Given the description of an element on the screen output the (x, y) to click on. 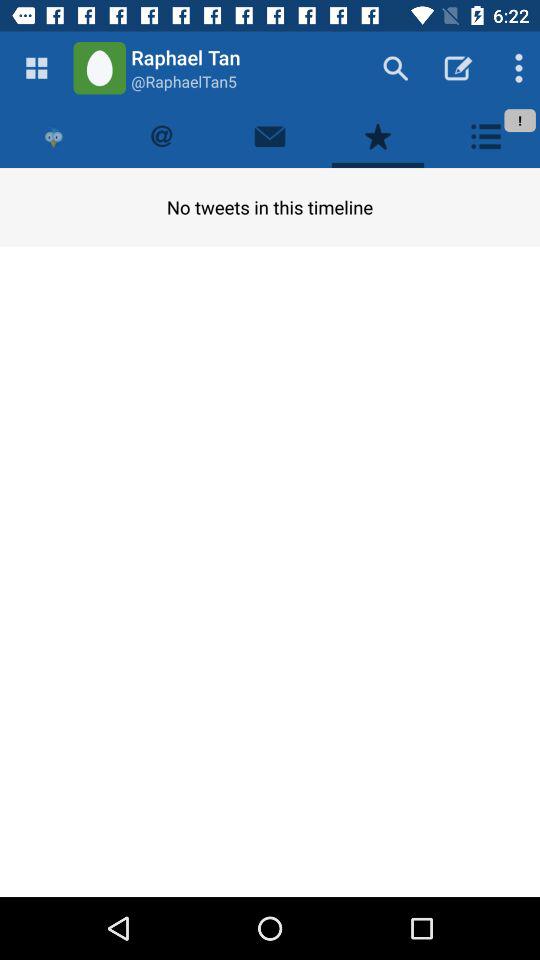
go to galary (36, 68)
